Given the description of an element on the screen output the (x, y) to click on. 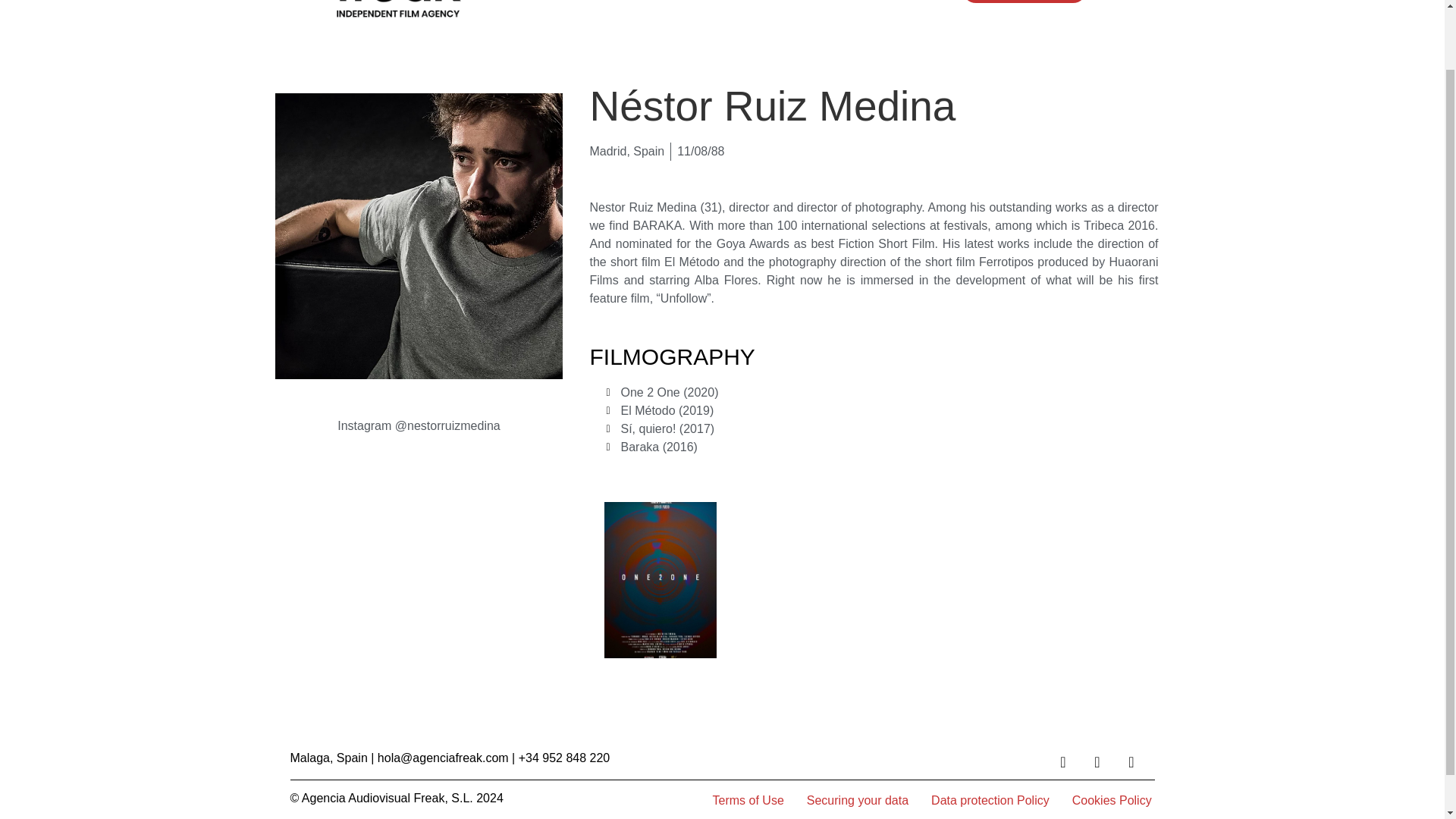
Securing your data (857, 800)
Terms of Use (748, 800)
Send us your film (1024, 1)
Cookies Policy (1111, 800)
Films (657, 3)
Home (597, 3)
Contact (894, 3)
Filmmakers (734, 3)
Data protection Policy (990, 800)
Services (818, 3)
